Given the description of an element on the screen output the (x, y) to click on. 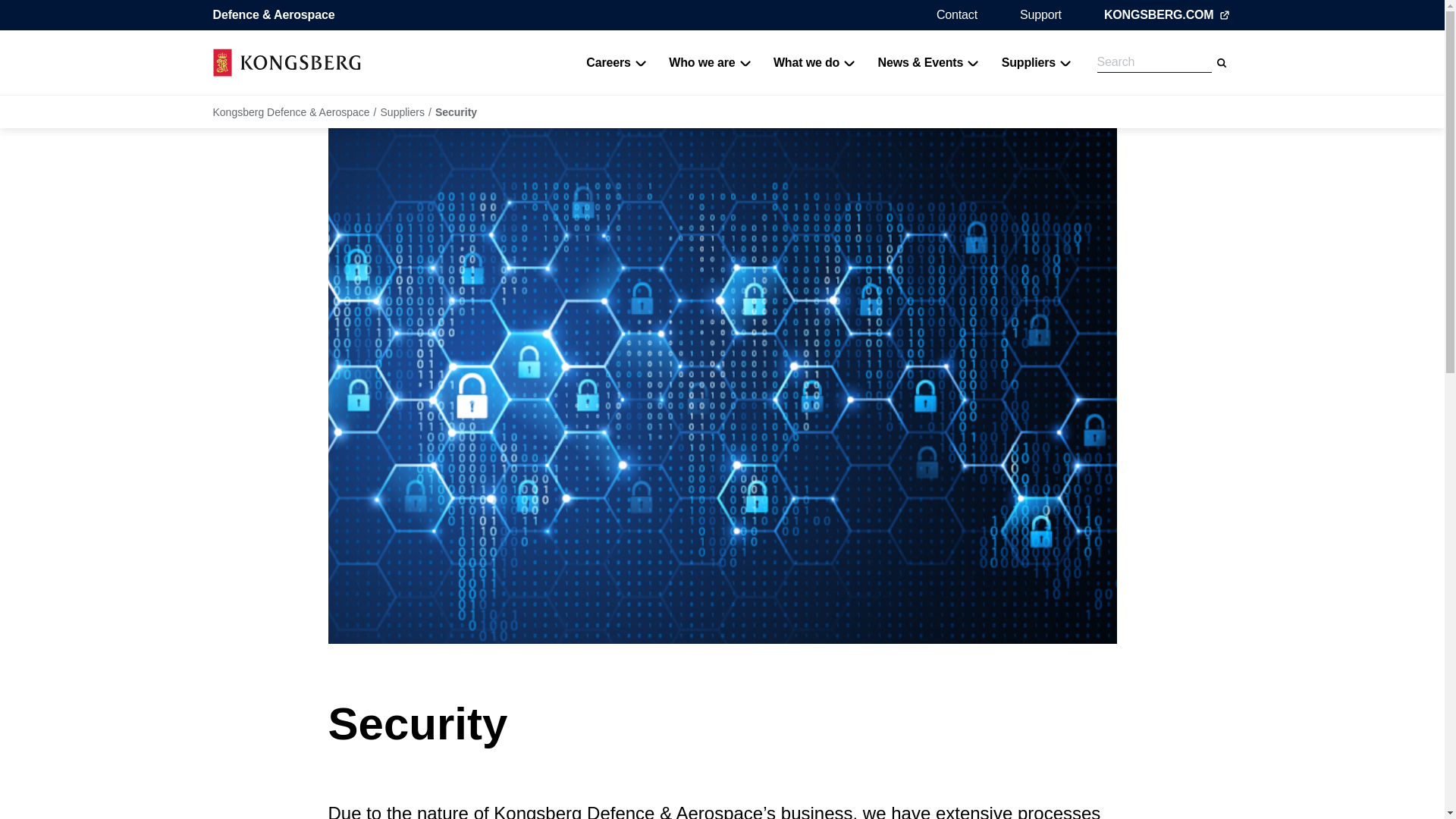
Contact (956, 14)
What we do (814, 62)
Careers (615, 62)
KONGSBERG.COM (1167, 14)
Suppliers (1036, 62)
Support (1040, 14)
Who we are (709, 62)
